Given the description of an element on the screen output the (x, y) to click on. 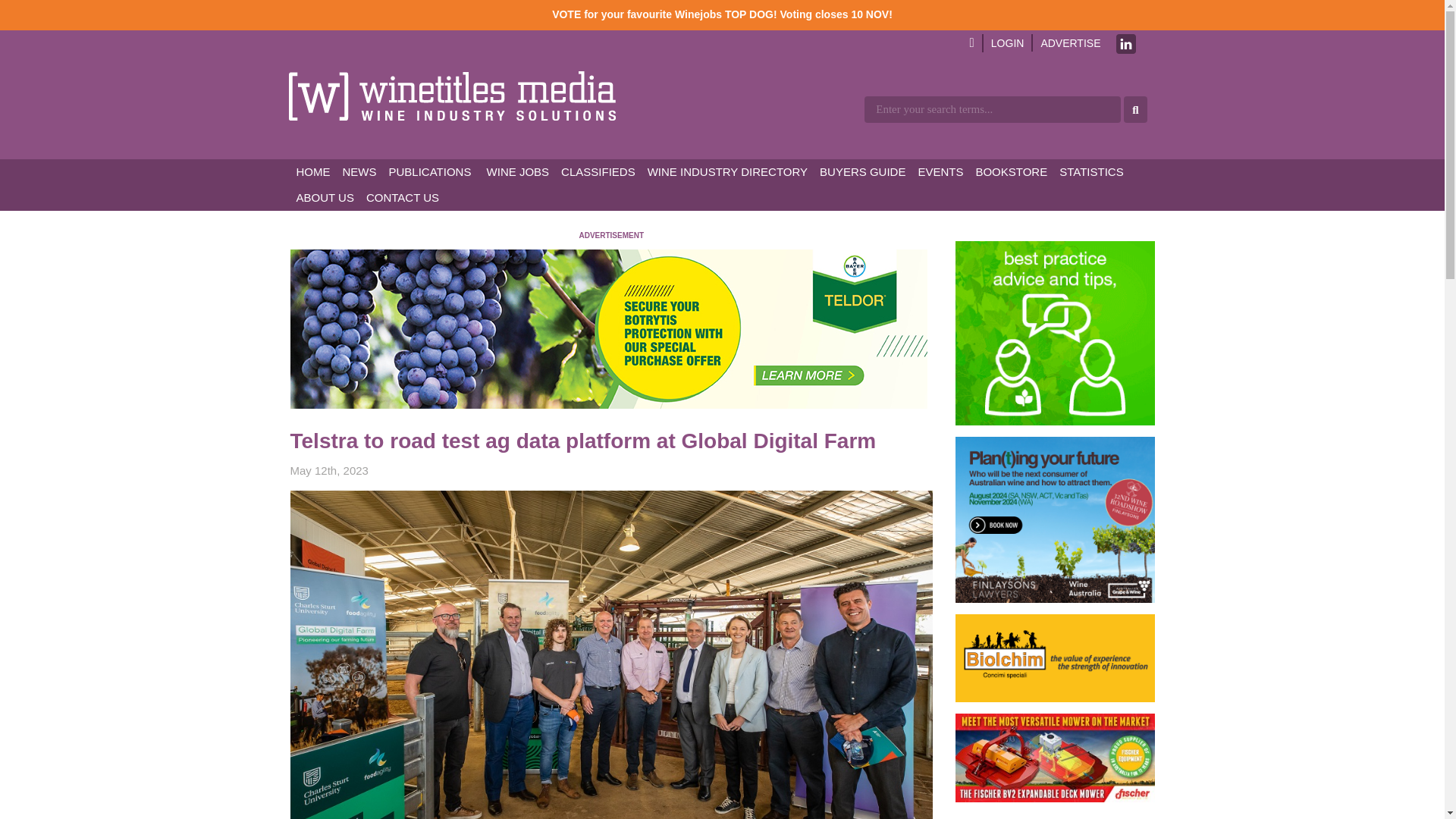
Voting closes 10 NOV! (836, 14)
Wine Industry Directory (727, 171)
WINE INDUSTRY DIRECTORY (727, 171)
NEWS (359, 171)
BUYERS GUIDE (862, 171)
 WINE JOBS (515, 171)
Home (312, 171)
Publications (429, 171)
CLASSIFIEDS (598, 171)
Wine Jobs (515, 171)
PUBLICATIONS (429, 171)
HOME (312, 171)
VOTE for your favourite Winejobs TOP DOG! (664, 14)
News (359, 171)
EVENTS (940, 171)
